Given the description of an element on the screen output the (x, y) to click on. 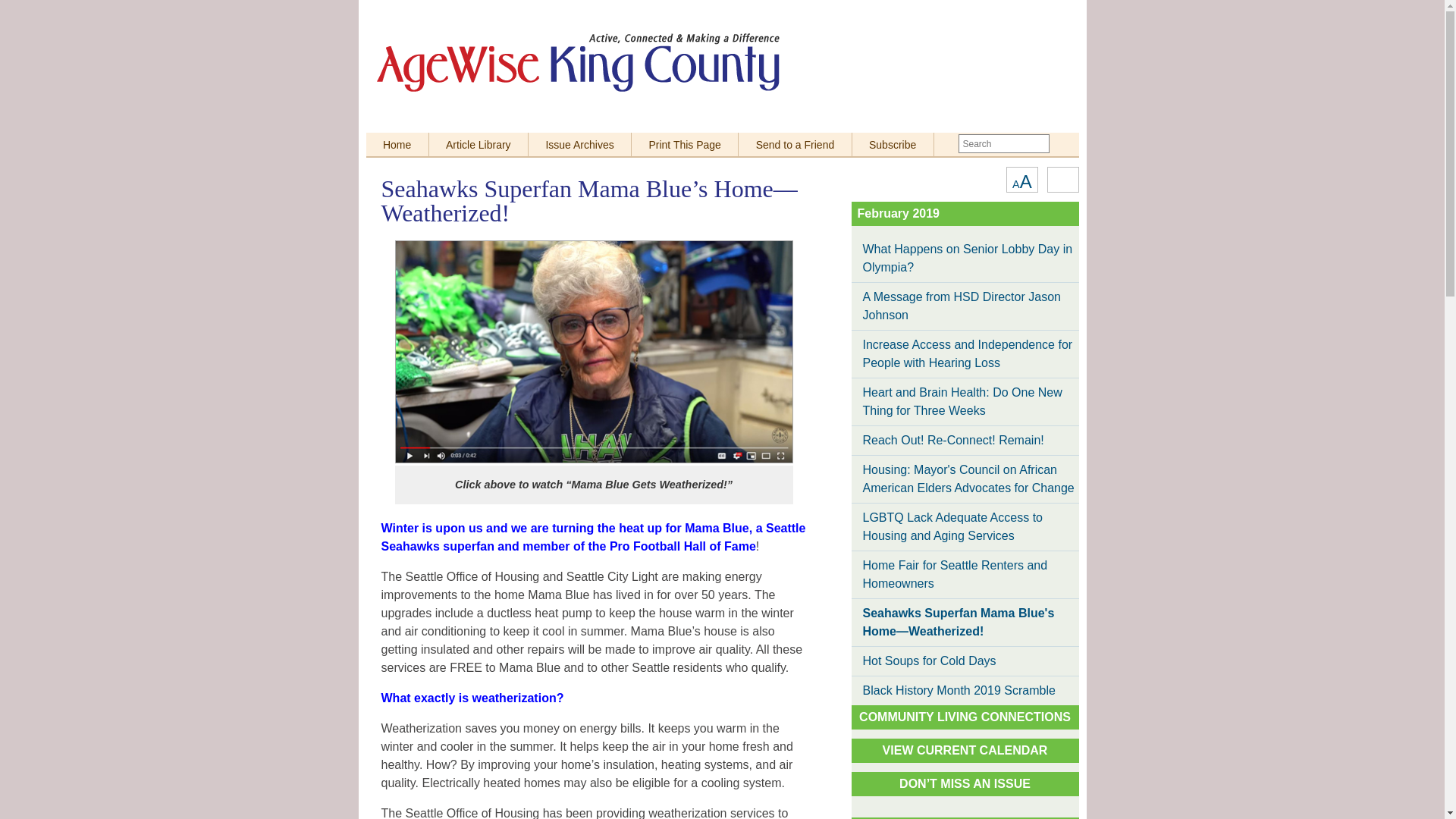
Search (1061, 143)
Heart and Brain Health: Do One New Thing for Three Weeks (964, 401)
Send to a Friend (794, 144)
Reach Out! Re-Connect! Remain! (964, 440)
February 2019 (898, 213)
Send your friends e-mail about this page (794, 144)
Search (1061, 143)
Article Library (478, 144)
Print This Page (684, 144)
Subscribe (1022, 179)
A Message from HSD Director Jason Johnson (892, 144)
Home (964, 306)
